Given the description of an element on the screen output the (x, y) to click on. 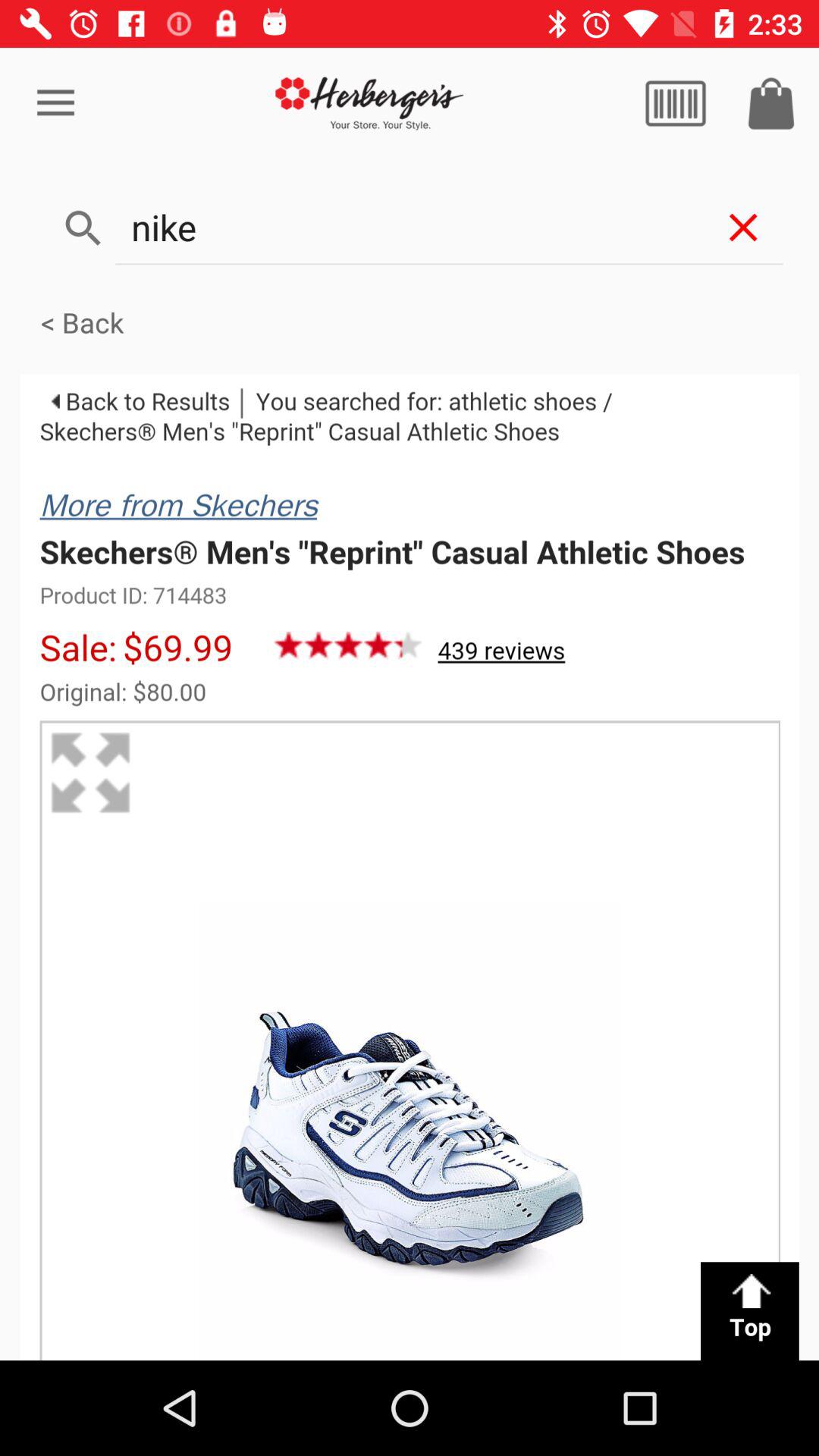
go to homepage (369, 103)
